Given the description of an element on the screen output the (x, y) to click on. 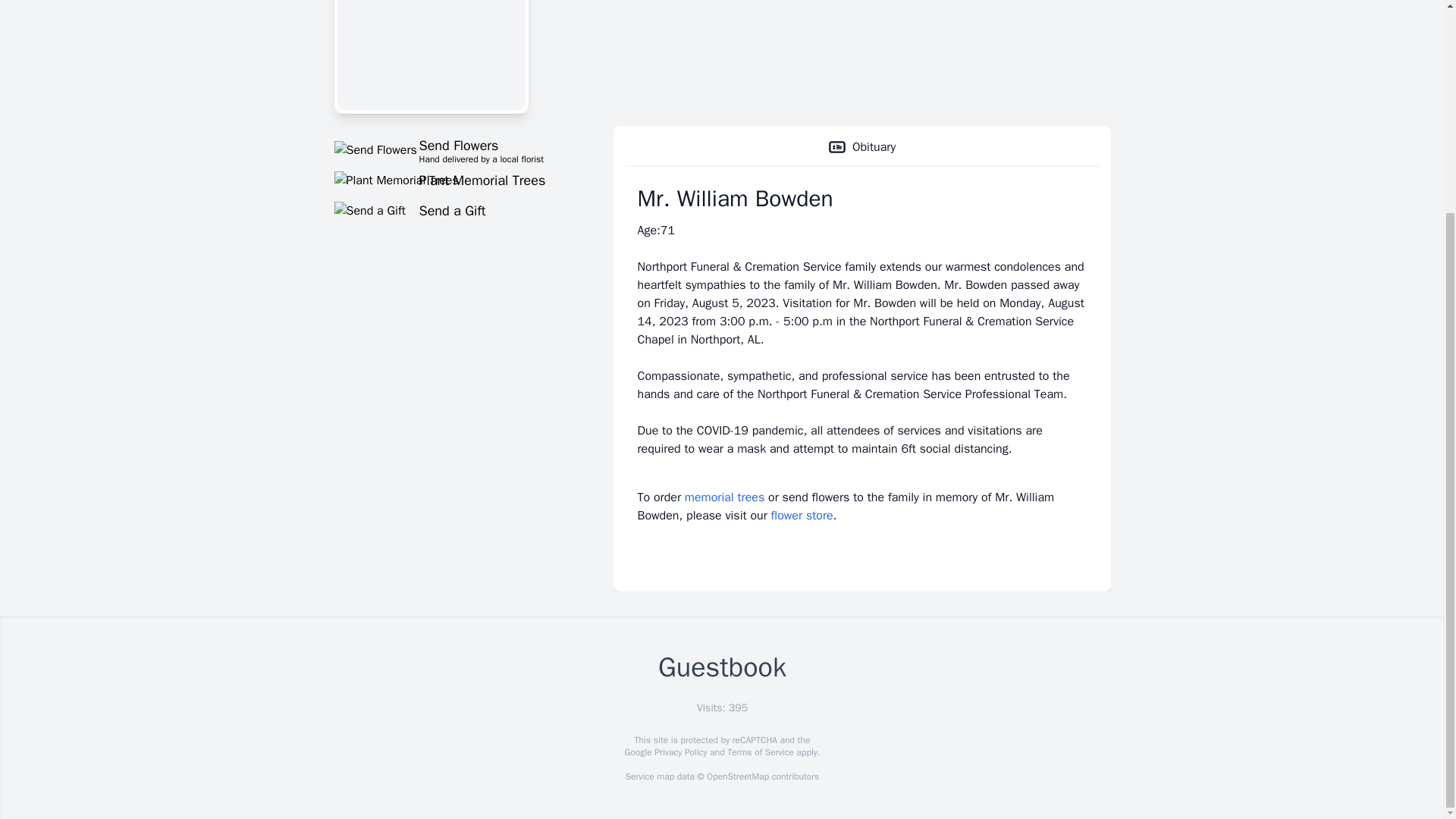
Plant Memorial Trees (454, 180)
Obituary (860, 147)
Terms of Service (454, 149)
Send a Gift (759, 752)
memorial trees (454, 210)
Privacy Policy (724, 497)
OpenStreetMap (679, 752)
flower store (737, 776)
